Given the description of an element on the screen output the (x, y) to click on. 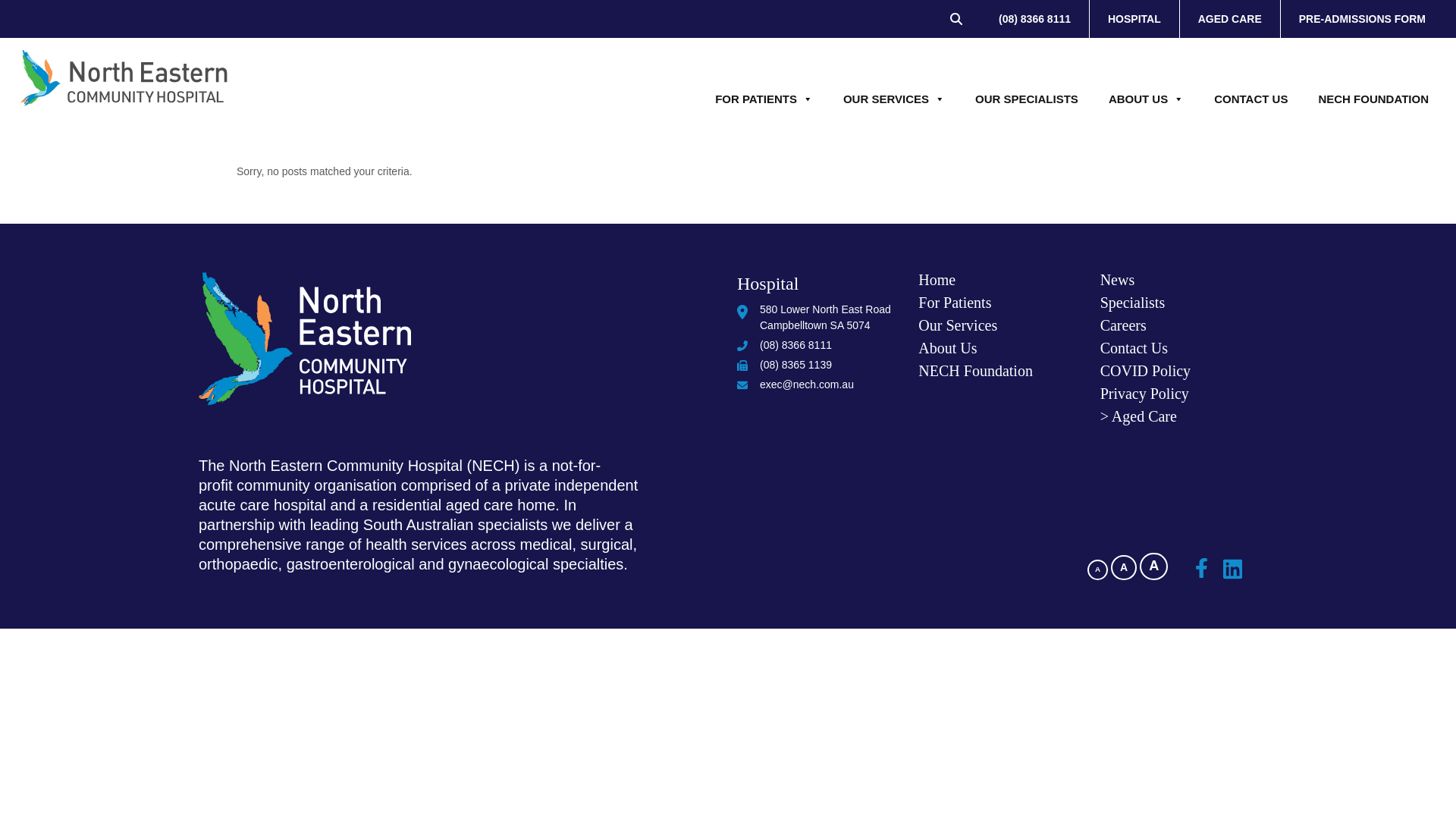
OUR SPECIALISTS (1026, 99)
HOSPITAL (1134, 18)
ABOUT US (1145, 99)
Decrease font size (1097, 569)
SEARCH (961, 18)
PRE-ADMISSIONS FORM (1362, 18)
FOR PATIENTS (764, 99)
Reset font size (1123, 567)
OUR SERVICES (893, 99)
Increase font size (1153, 565)
